Given the description of an element on the screen output the (x, y) to click on. 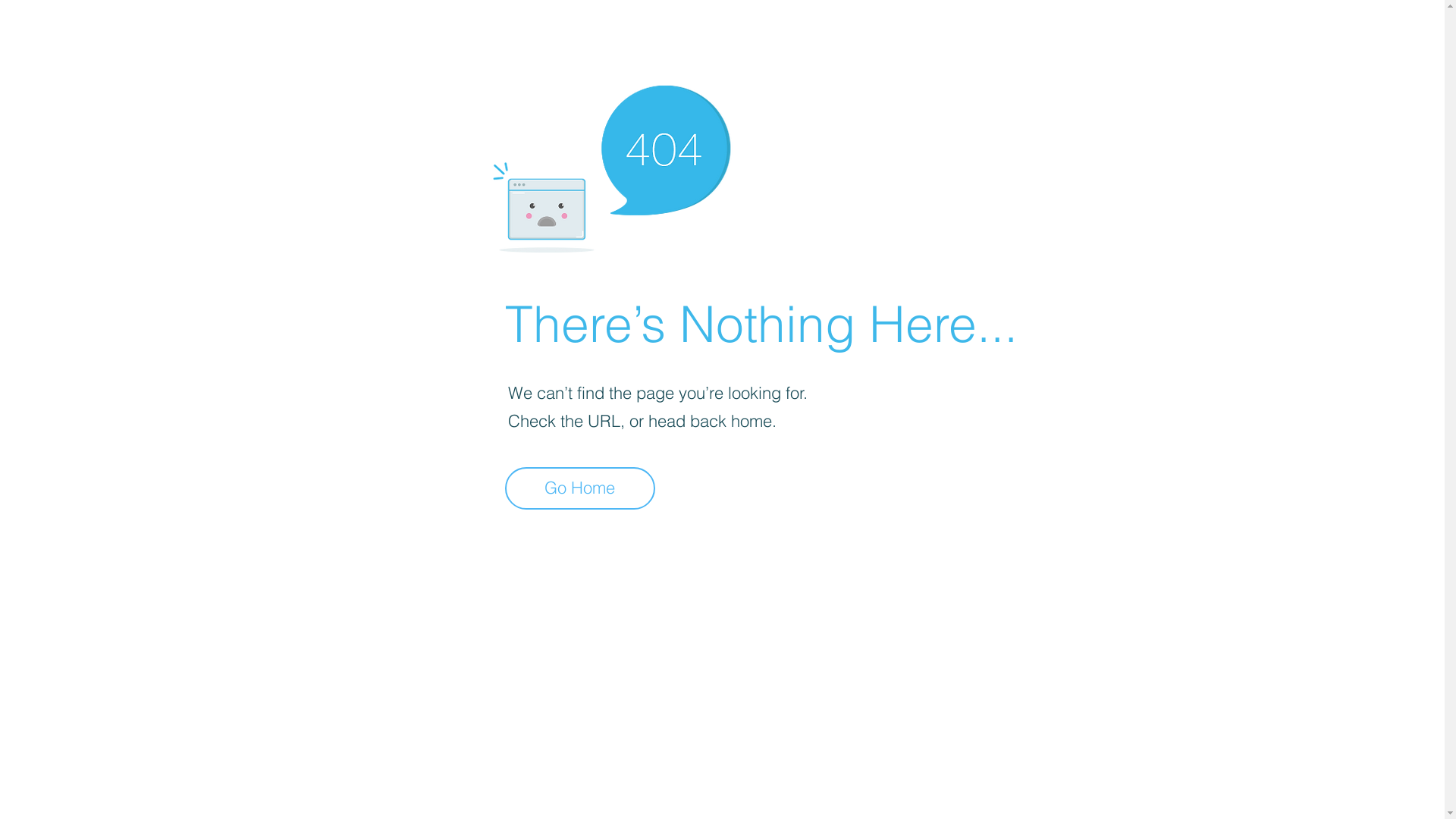
Go Home Element type: text (580, 488)
404-icon_2.png Element type: hover (610, 164)
